Given the description of an element on the screen output the (x, y) to click on. 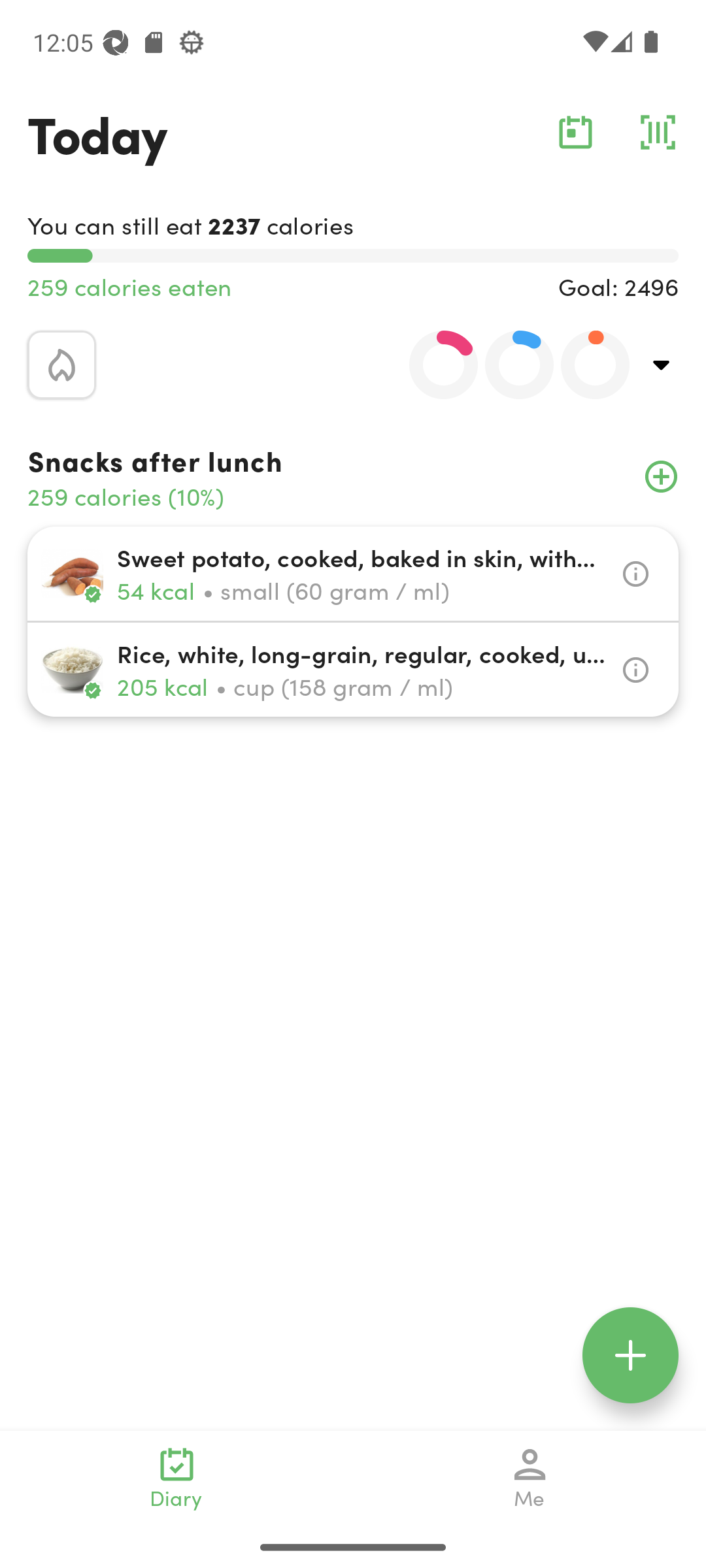
calendar_action (575, 132)
barcode_action (658, 132)
calorie_icon (62, 365)
0.15 0.09 0.01 (508, 365)
top_right_action (661, 365)
info_icon (636, 573)
info_icon (636, 669)
floating_action_icon (630, 1355)
Me navigation_icon (529, 1478)
